Given the description of an element on the screen output the (x, y) to click on. 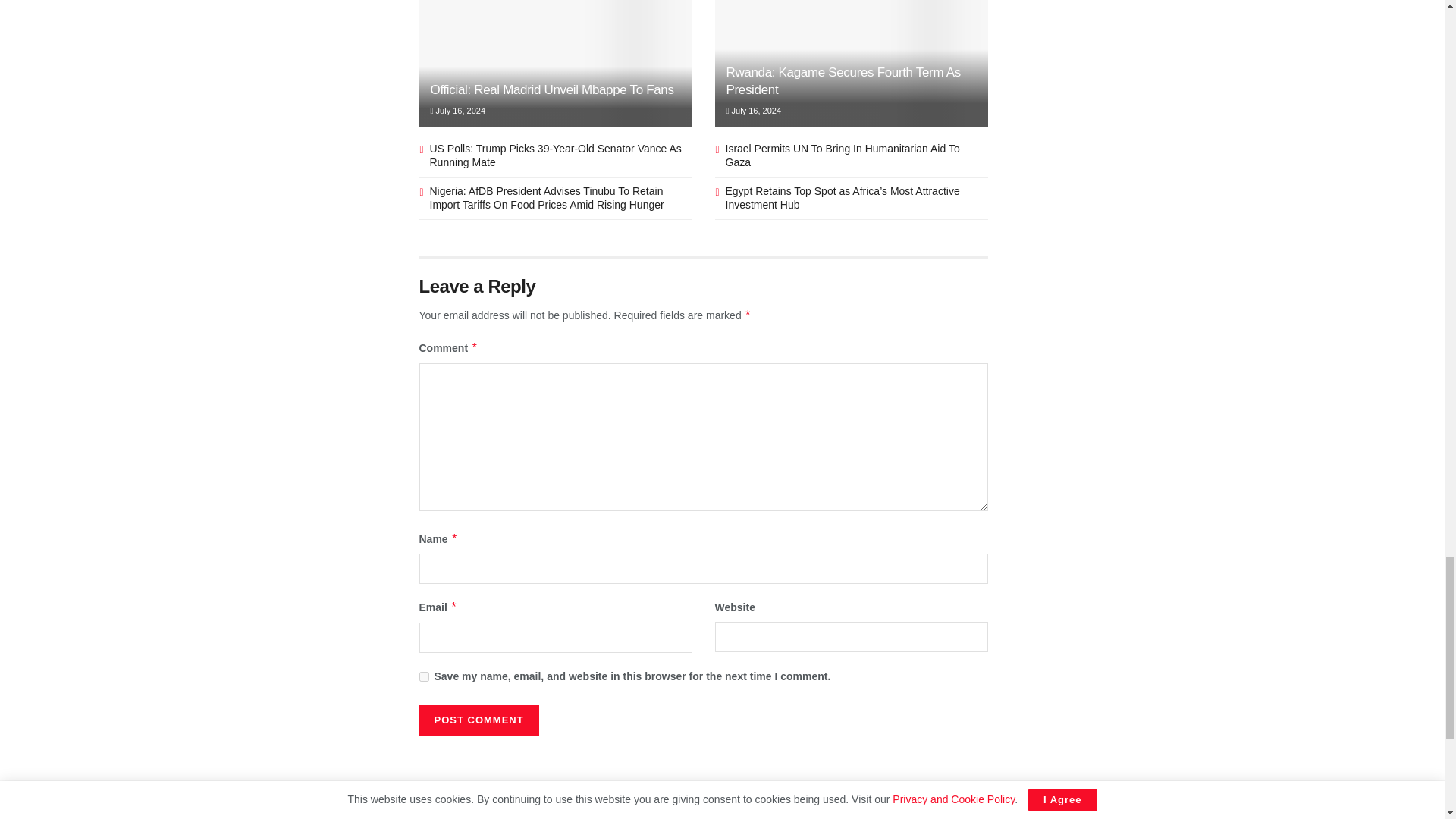
yes (423, 676)
Post Comment (478, 720)
